Given the description of an element on the screen output the (x, y) to click on. 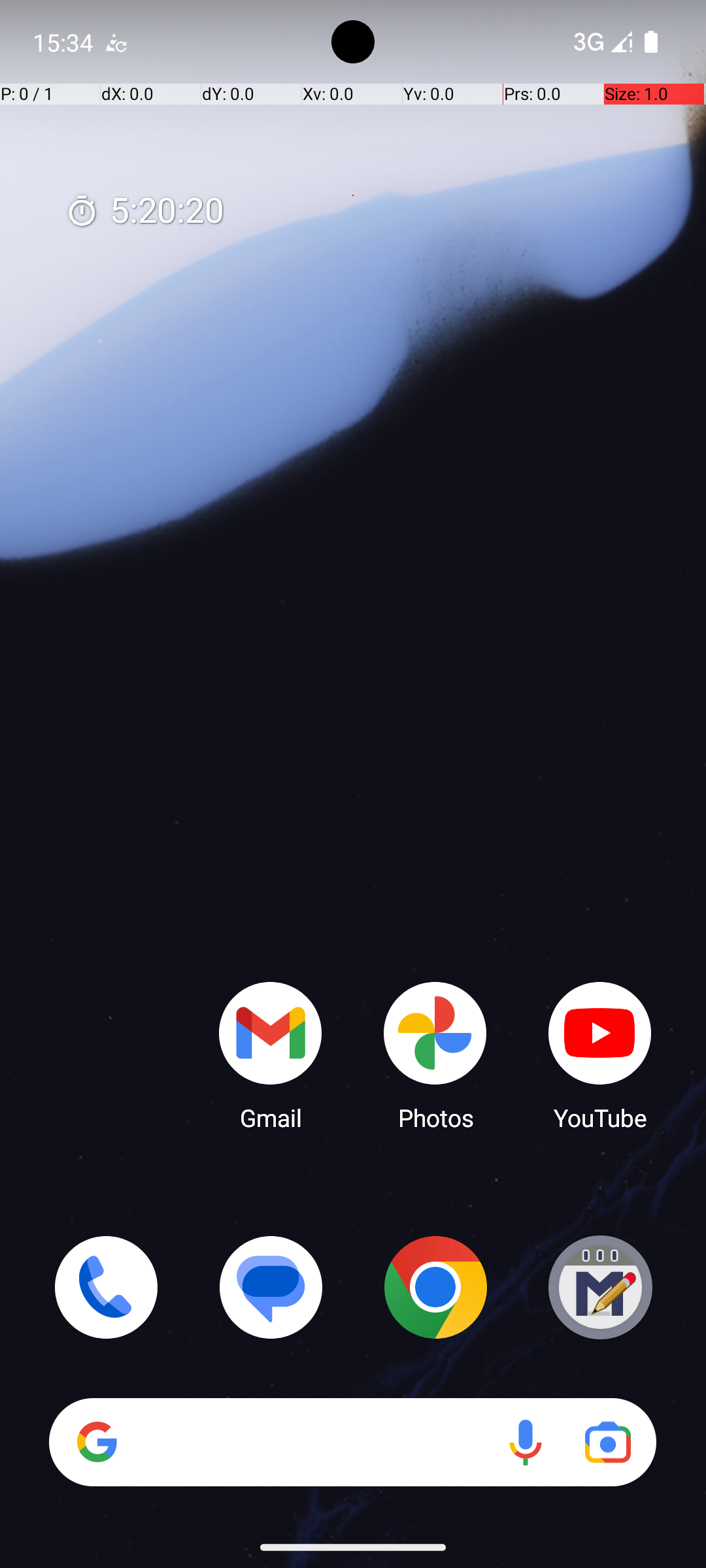
5:20:19 Element type: android.widget.TextView (144, 210)
